Given the description of an element on the screen output the (x, y) to click on. 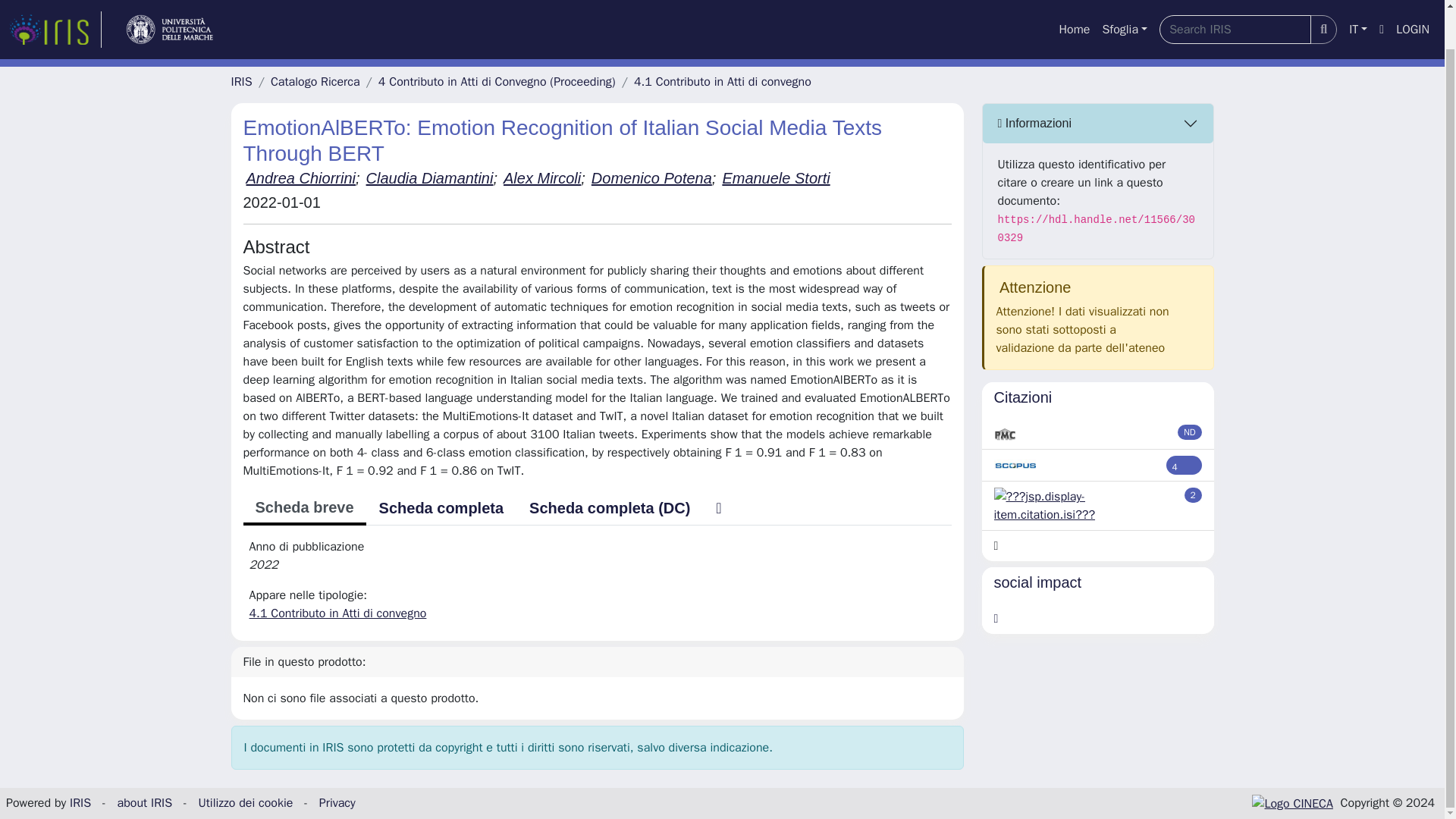
Sfoglia (1124, 2)
Domenico Potena (651, 177)
Scheda breve (304, 508)
IRIS (240, 81)
Claudia Diamantini (429, 177)
4.1 Contributo in Atti di convegno (337, 613)
LOGIN (1412, 2)
Alex Mircoli (541, 177)
 Informazioni (1097, 123)
Emanuele Storti (775, 177)
